Given the description of an element on the screen output the (x, y) to click on. 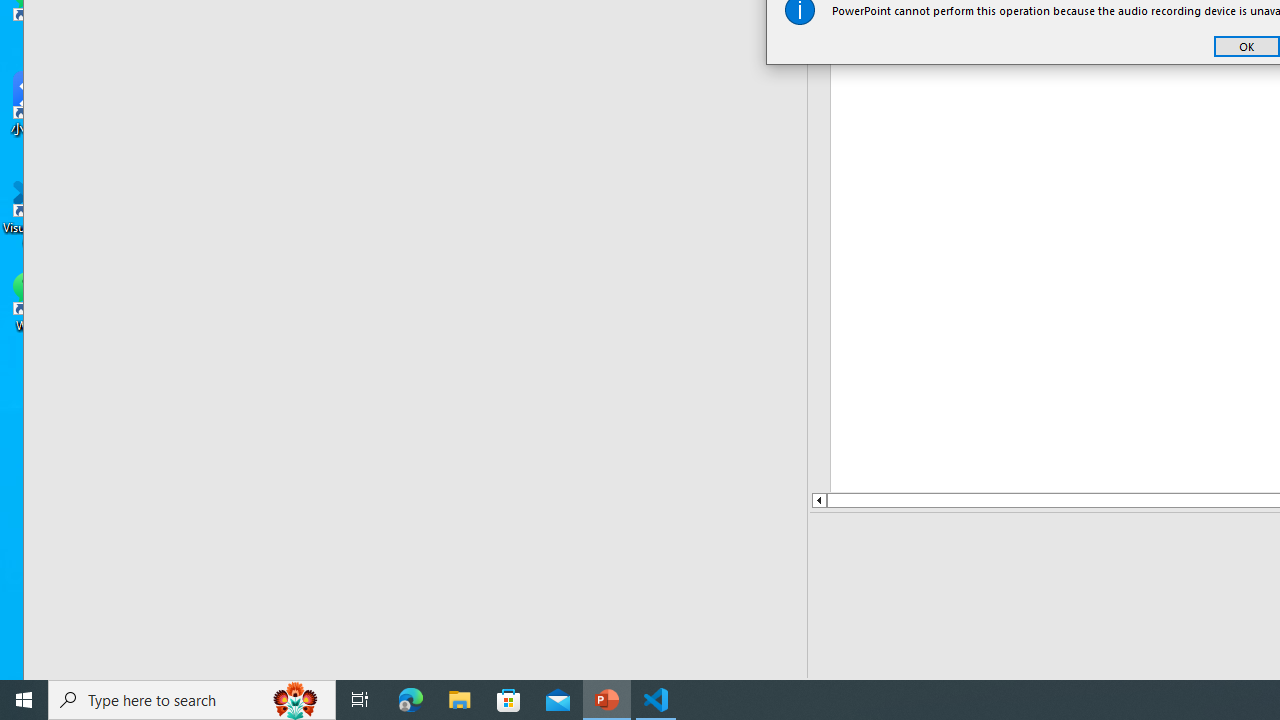
Visual Studio Code - 1 running window (656, 699)
Microsoft Store (509, 699)
Microsoft Edge (411, 699)
Search highlights icon opens search home window (295, 699)
Start (24, 699)
Task View (359, 699)
Type here to search (191, 699)
File Explorer (460, 699)
PowerPoint - 1 running window (607, 699)
